Given the description of an element on the screen output the (x, y) to click on. 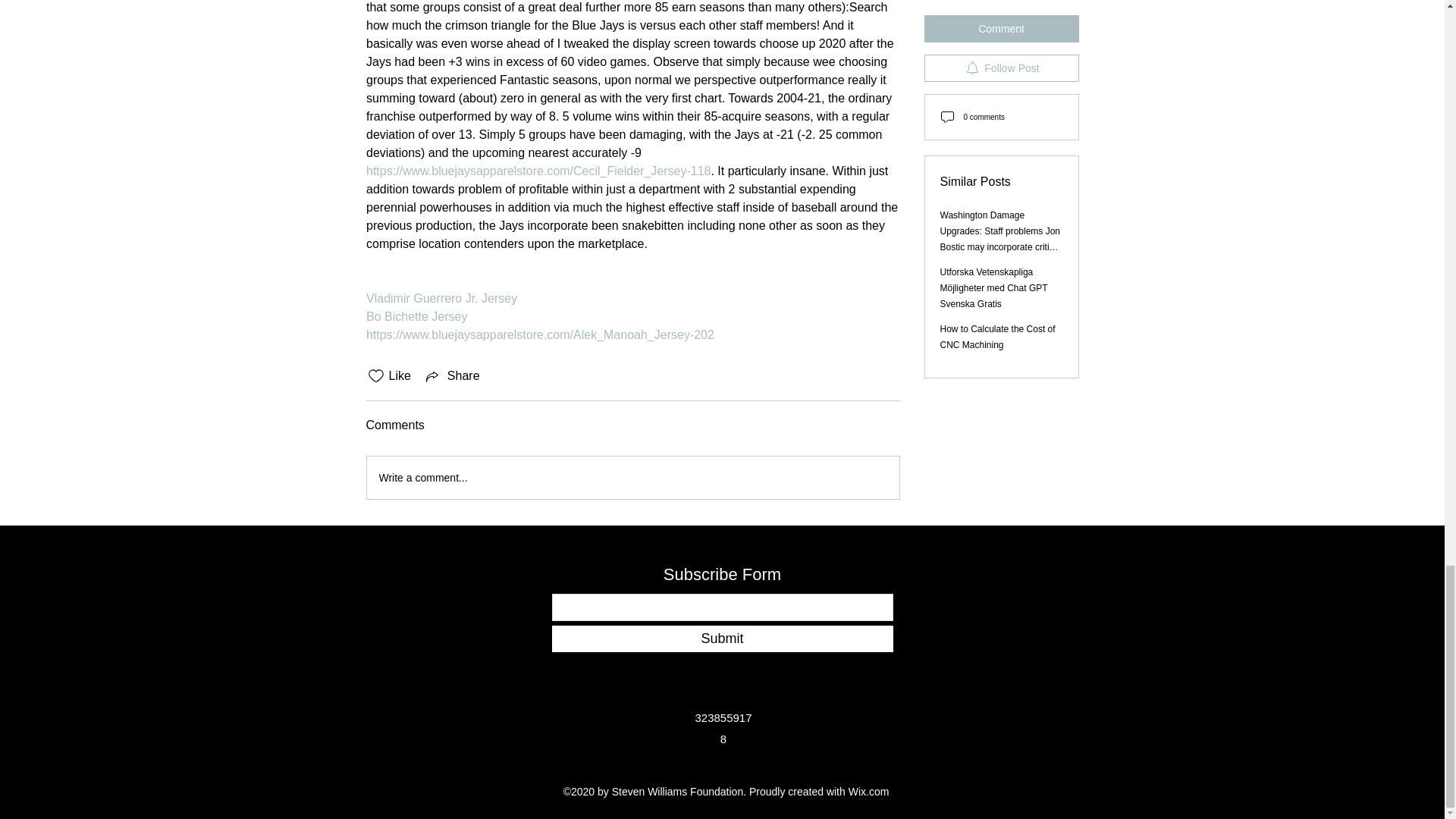
Share (451, 375)
Submit (722, 638)
Vladimir Guerrero Jr. Jersey (440, 297)
Bo Bichette Jersey (415, 316)
Write a comment... (632, 477)
